Given the description of an element on the screen output the (x, y) to click on. 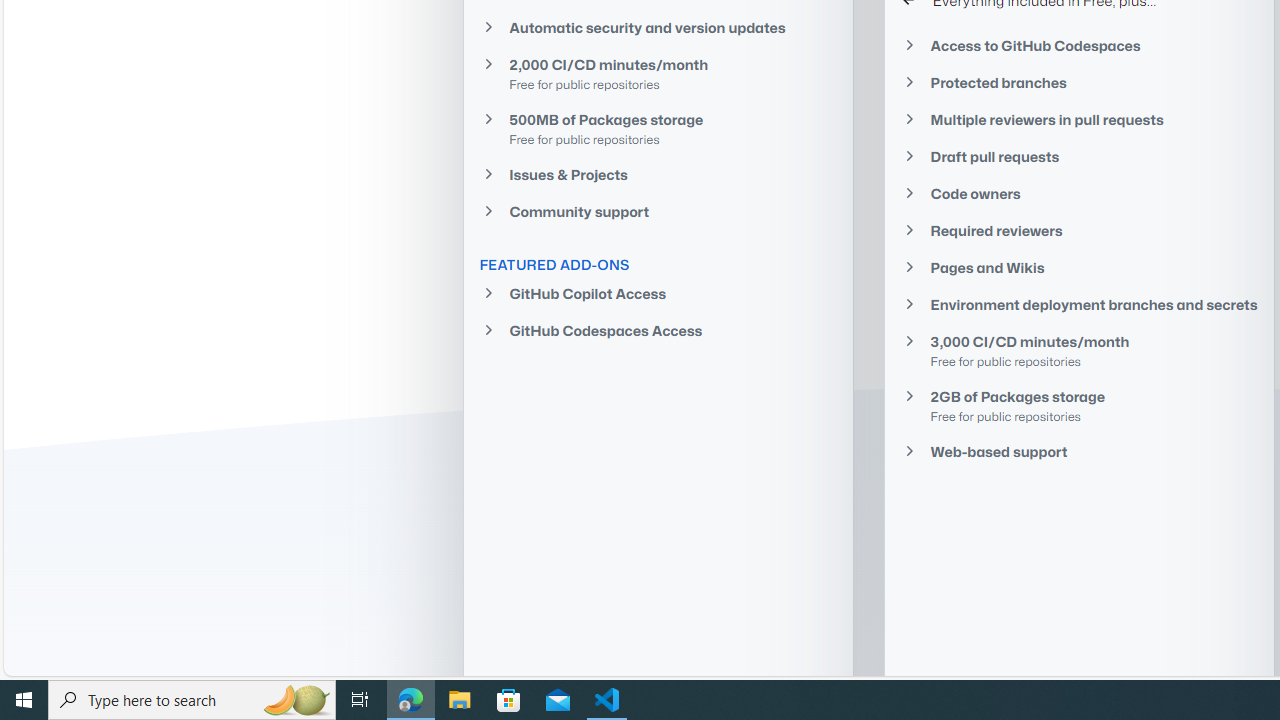
Environment deployment branches and secrets (1079, 304)
Code owners (1079, 193)
Access to GitHub Codespaces (1079, 44)
Protected branches (1079, 82)
Web-based support (1079, 451)
Code owners (1079, 193)
